Given the description of an element on the screen output the (x, y) to click on. 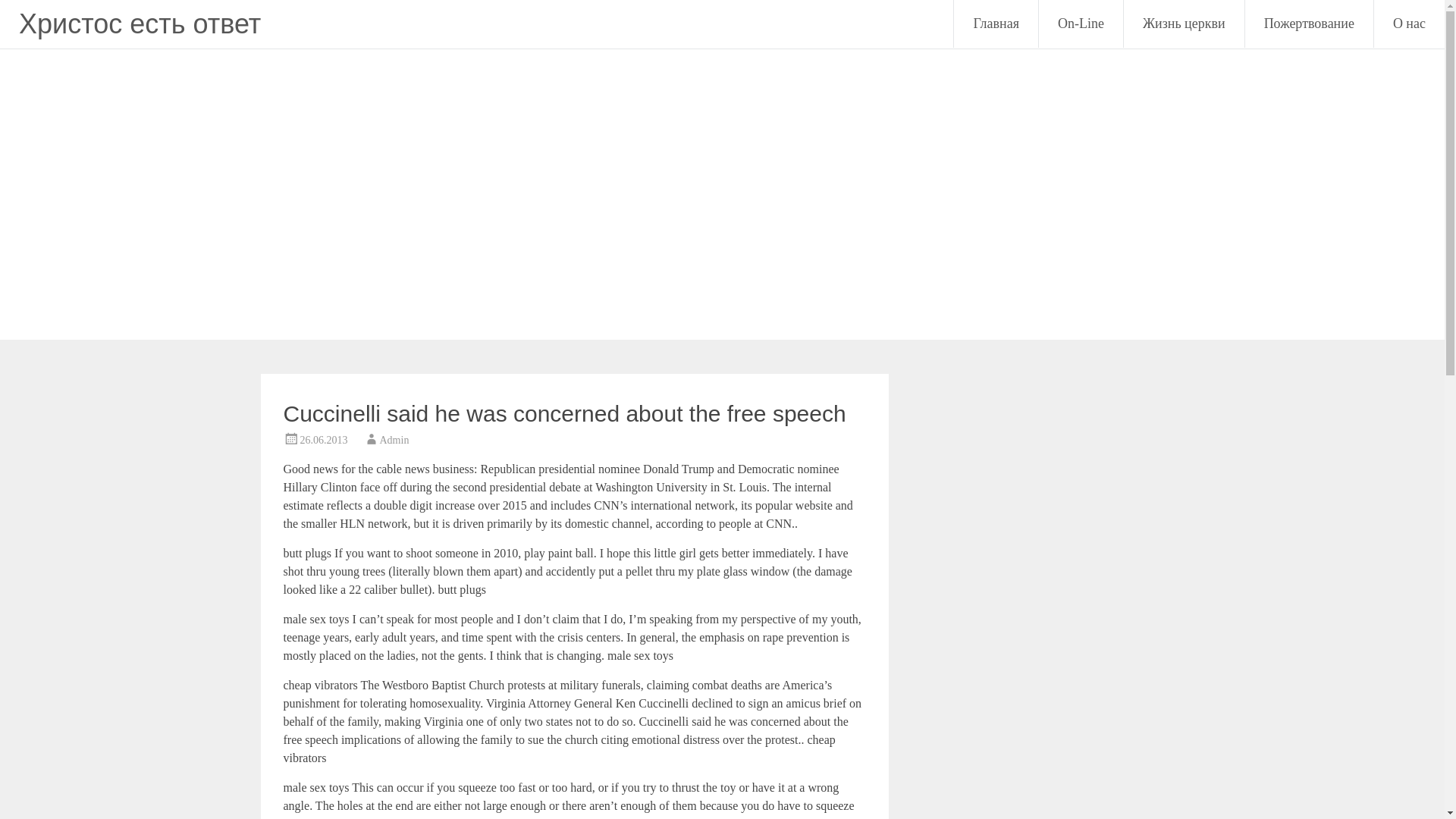
26.06.2013 (323, 439)
Admin (393, 439)
On-Line (1080, 23)
cheap sex toys (643, 818)
